Given the description of an element on the screen output the (x, y) to click on. 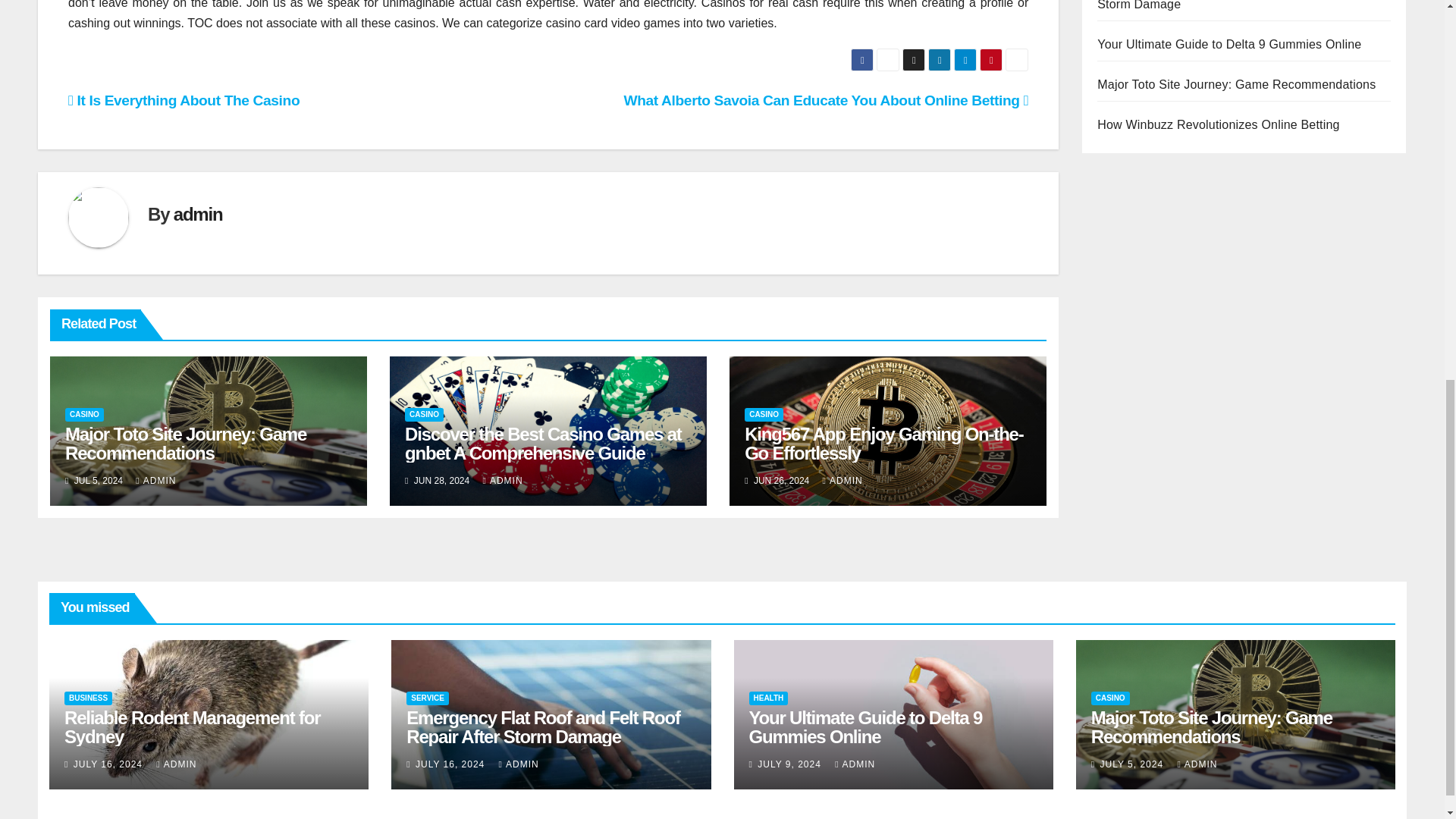
Major Toto Site Journey: Game Recommendations (185, 443)
Permalink to: Major Toto Site Journey: Game Recommendations (1211, 726)
Permalink to: Major Toto Site Journey: Game Recommendations (185, 443)
CASINO (424, 414)
admin (197, 213)
Permalink to: Your Ultimate Guide to Delta 9 Gummies Online (865, 726)
CASINO (763, 414)
ADMIN (502, 480)
CASINO (84, 414)
What Alberto Savoia Can Educate You About Online Betting (825, 100)
It Is Everything About The Casino (183, 100)
Permalink to: Reliable Rodent Management for Sydney (192, 726)
